Given the description of an element on the screen output the (x, y) to click on. 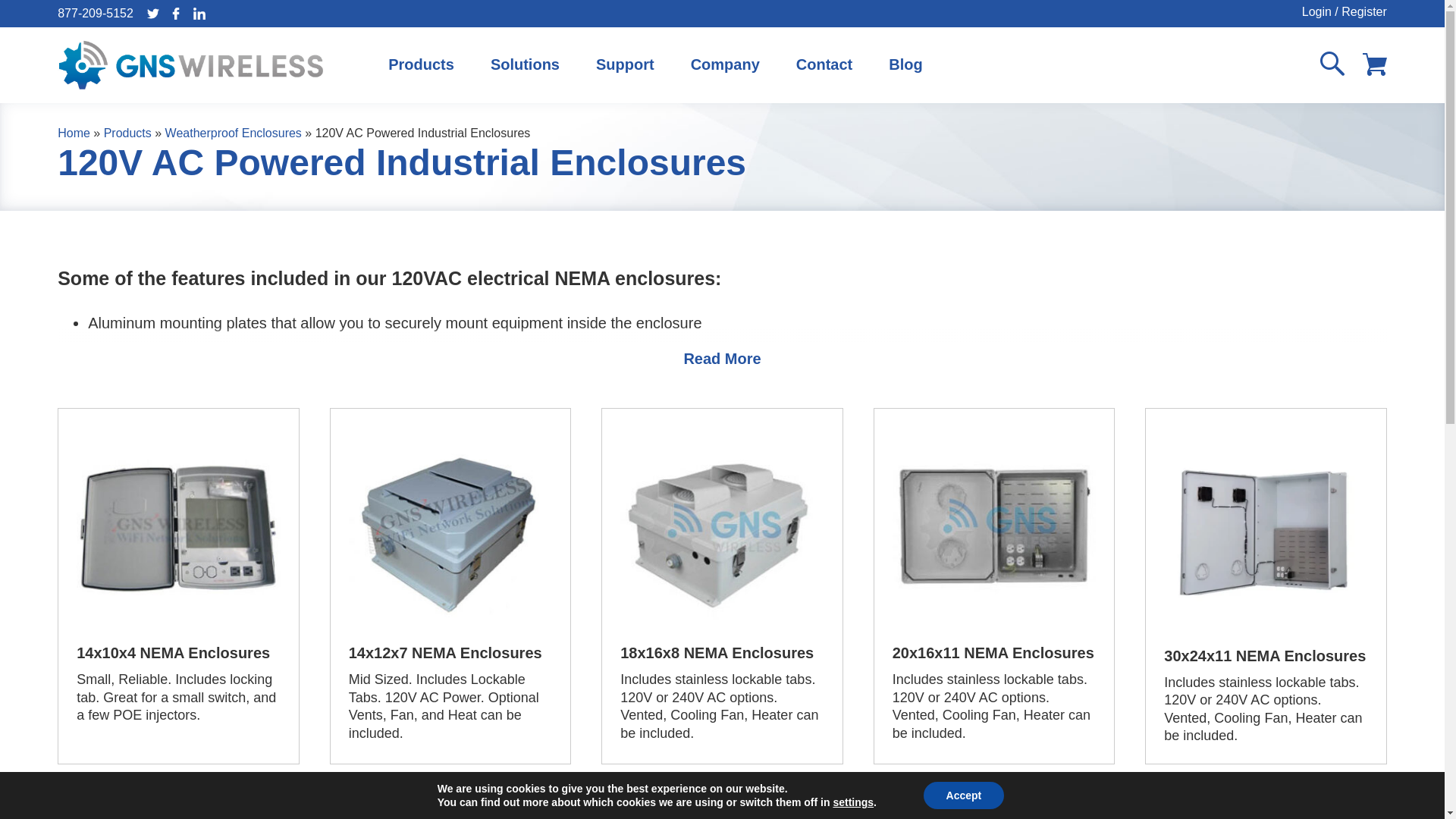
Twitter (152, 13)
Facebook (175, 13)
Products (420, 64)
GNS Wireless (191, 64)
877-209-5152 (95, 12)
LinkedIn (199, 13)
